Given the description of an element on the screen output the (x, y) to click on. 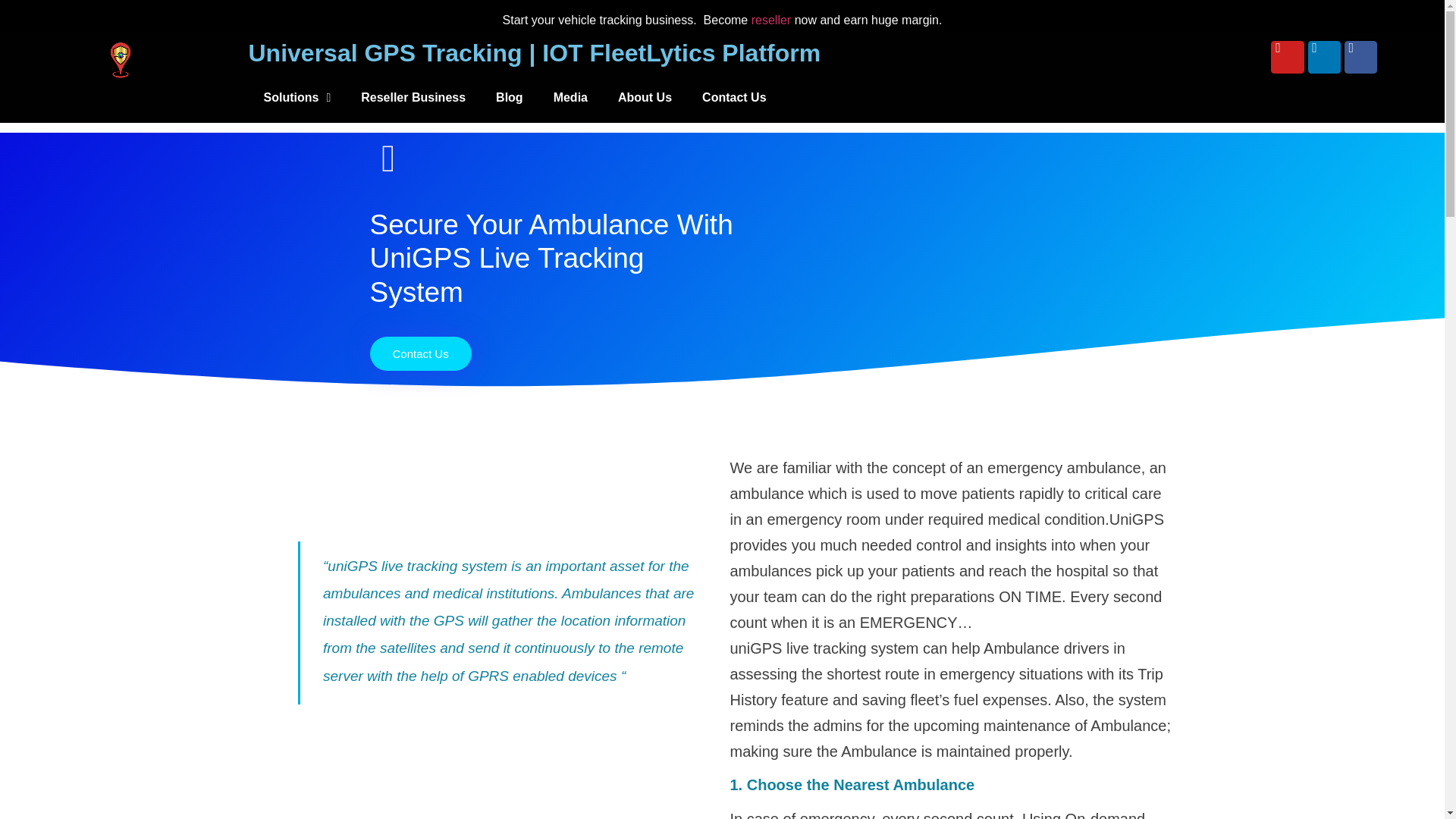
Blog (509, 97)
Media (570, 97)
About Us (644, 97)
Contact Us (420, 353)
Solutions (296, 97)
reseller (770, 19)
Contact Us (733, 97)
Reseller Business (413, 97)
